Given the description of an element on the screen output the (x, y) to click on. 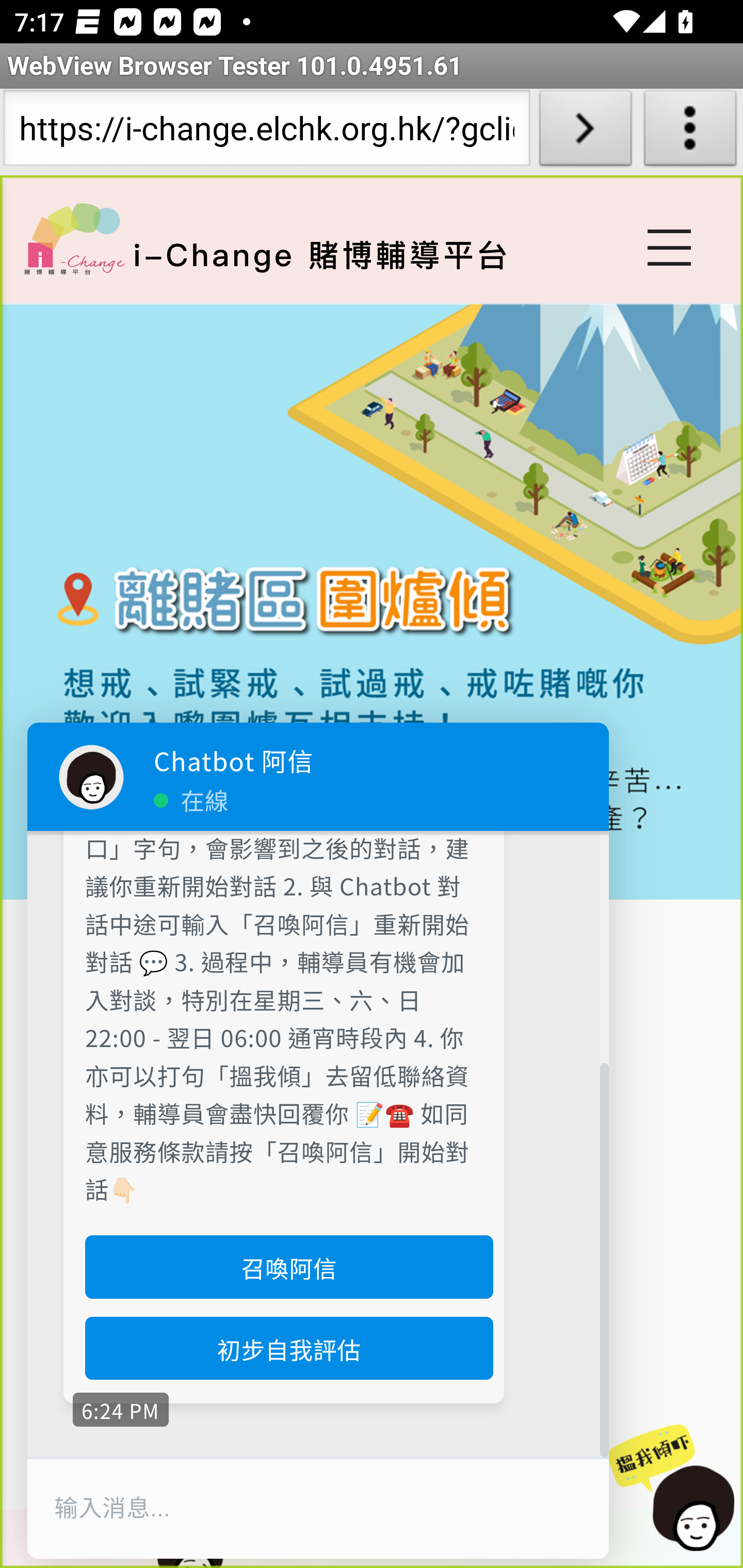
Load URL (585, 132)
About WebView (690, 132)
Home (74, 238)
Chat Now (672, 1488)
